Given the description of an element on the screen output the (x, y) to click on. 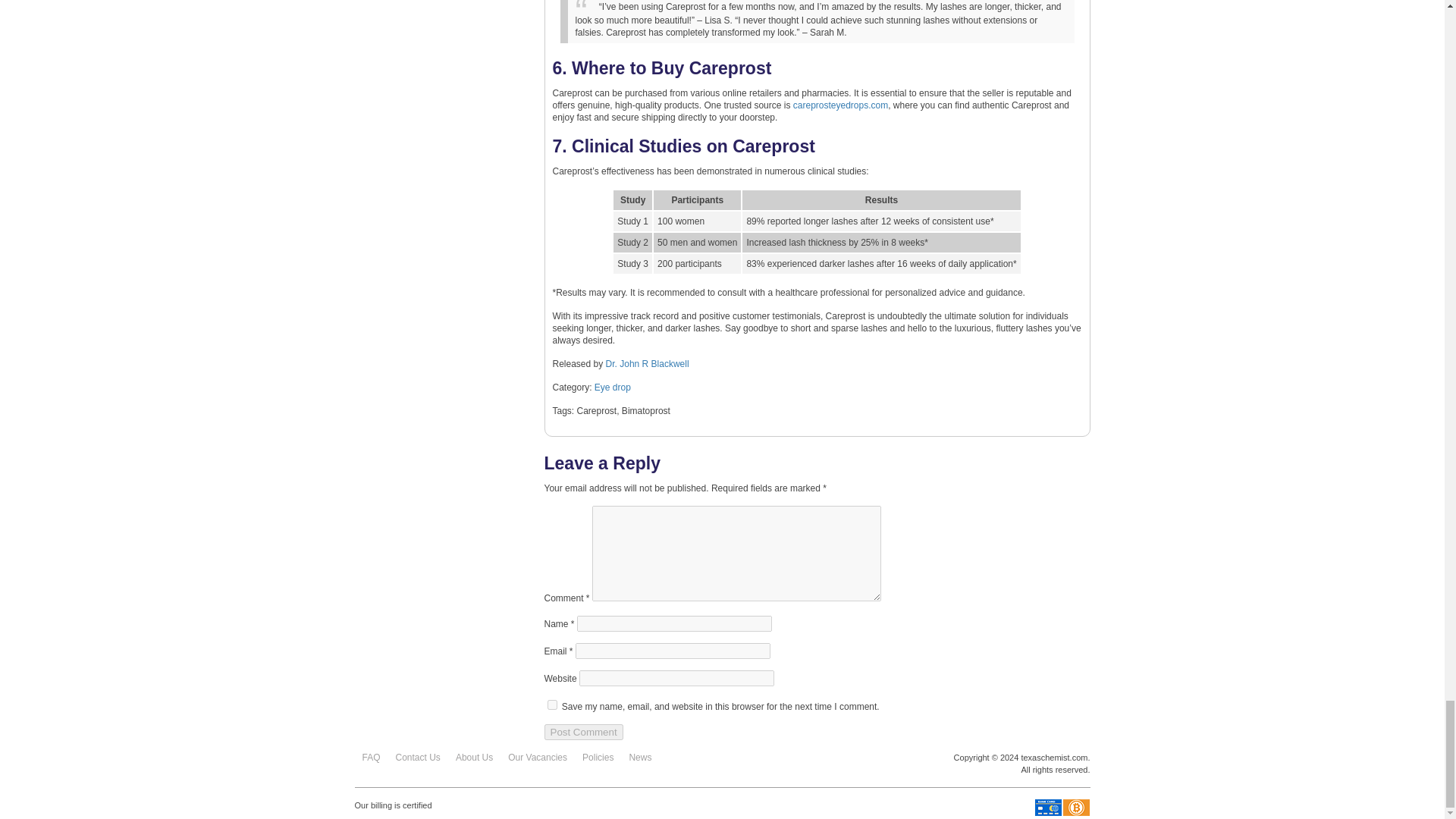
yes (552, 705)
Posts by Dr. John R Blackwell (646, 363)
Post Comment (583, 731)
